Given the description of an element on the screen output the (x, y) to click on. 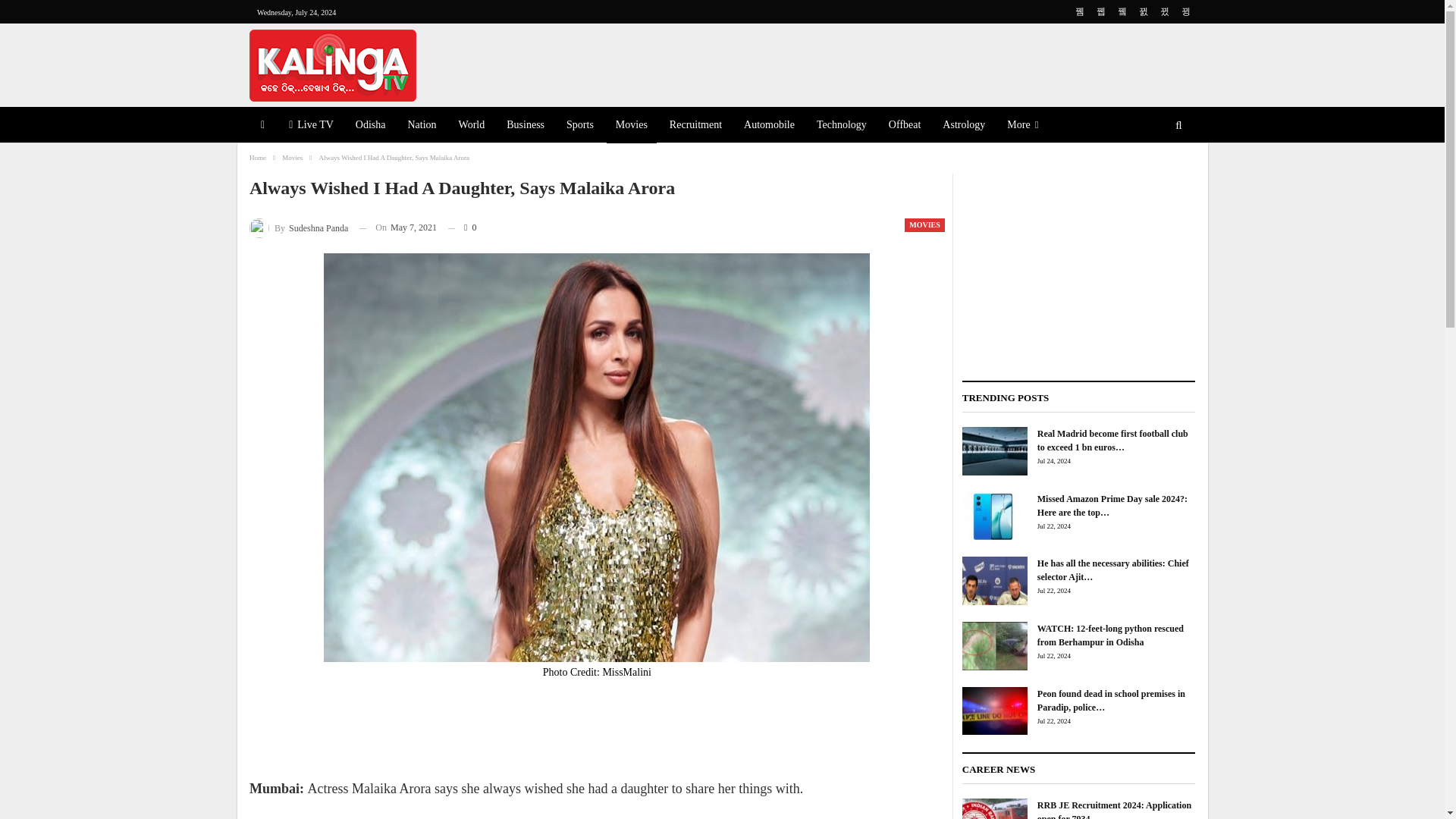
MOVIES (924, 224)
Advertisement (1078, 268)
0 (462, 227)
Astrology (963, 126)
Offbeat (904, 126)
Automobile (769, 126)
Sports (579, 126)
Movies (292, 157)
Advertisement (596, 732)
Live TV (310, 126)
More (1021, 126)
Browse Author Articles (297, 227)
Movies (631, 126)
Advertisement (882, 61)
Business (525, 126)
